Given the description of an element on the screen output the (x, y) to click on. 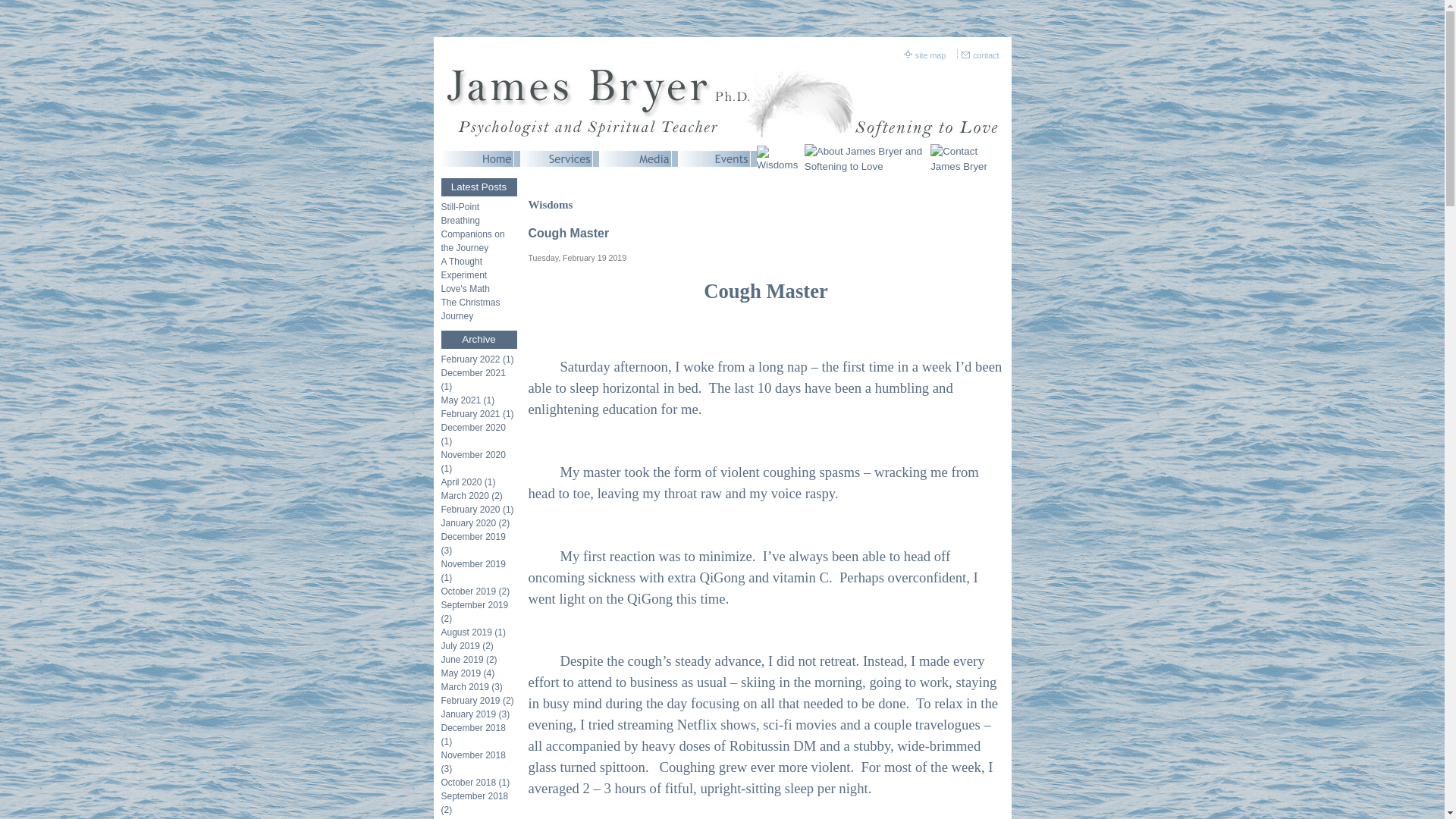
A Thought Experiment (478, 267)
The Christmas Journey (478, 308)
contact (986, 55)
site map (931, 55)
Companions on the Journey (478, 240)
Still-Point Breathing (478, 213)
Love's Math (478, 288)
